Given the description of an element on the screen output the (x, y) to click on. 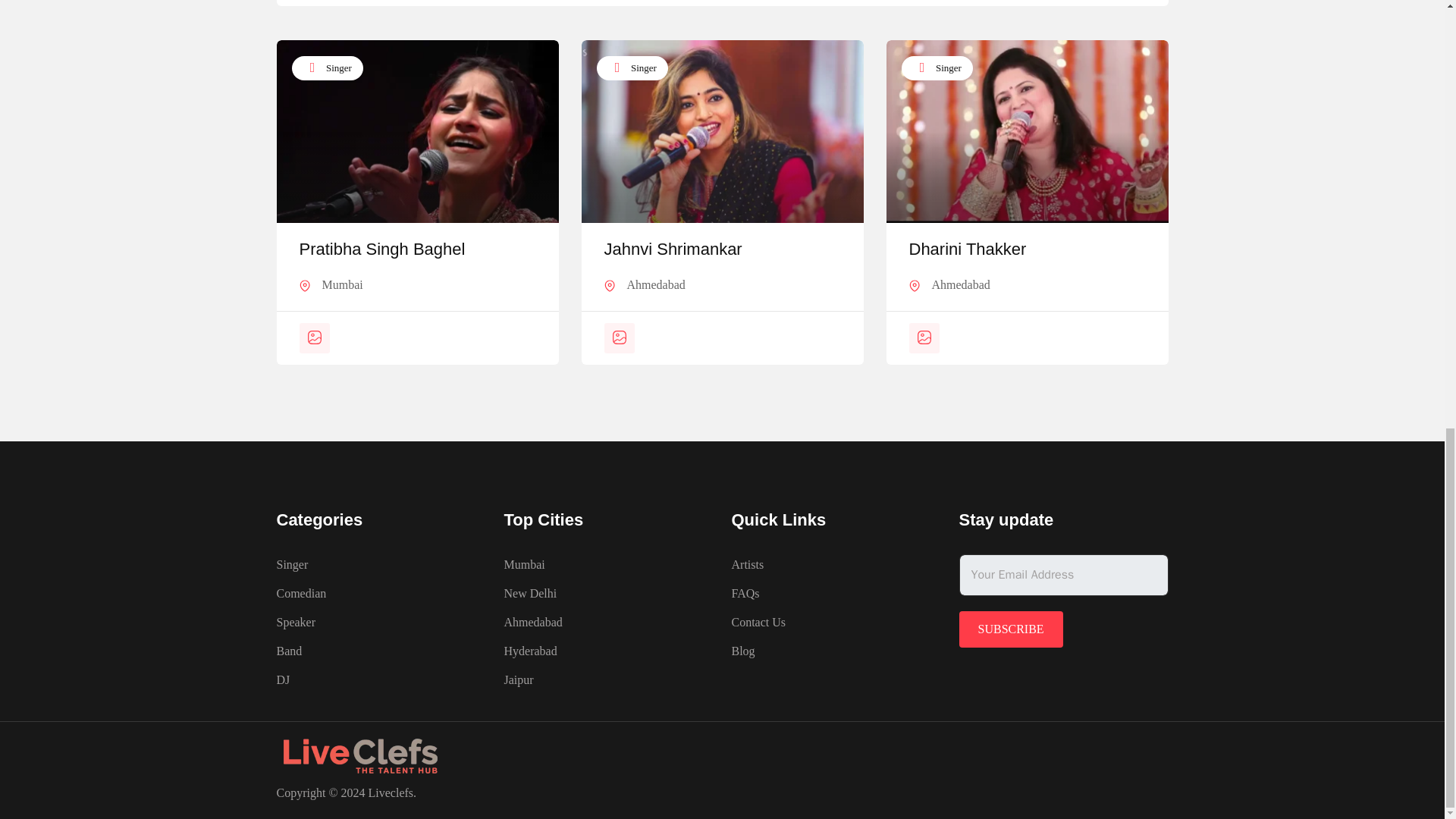
 Singer (326, 68)
Ahmedabad (655, 284)
 Singer (630, 68)
Mumbai (341, 284)
Ahmedabad (960, 284)
Dharini Thakker (967, 249)
Pratibha Singh Baghel (381, 249)
 Singer (936, 68)
Jahnvi Shrimankar (672, 249)
